Given the description of an element on the screen output the (x, y) to click on. 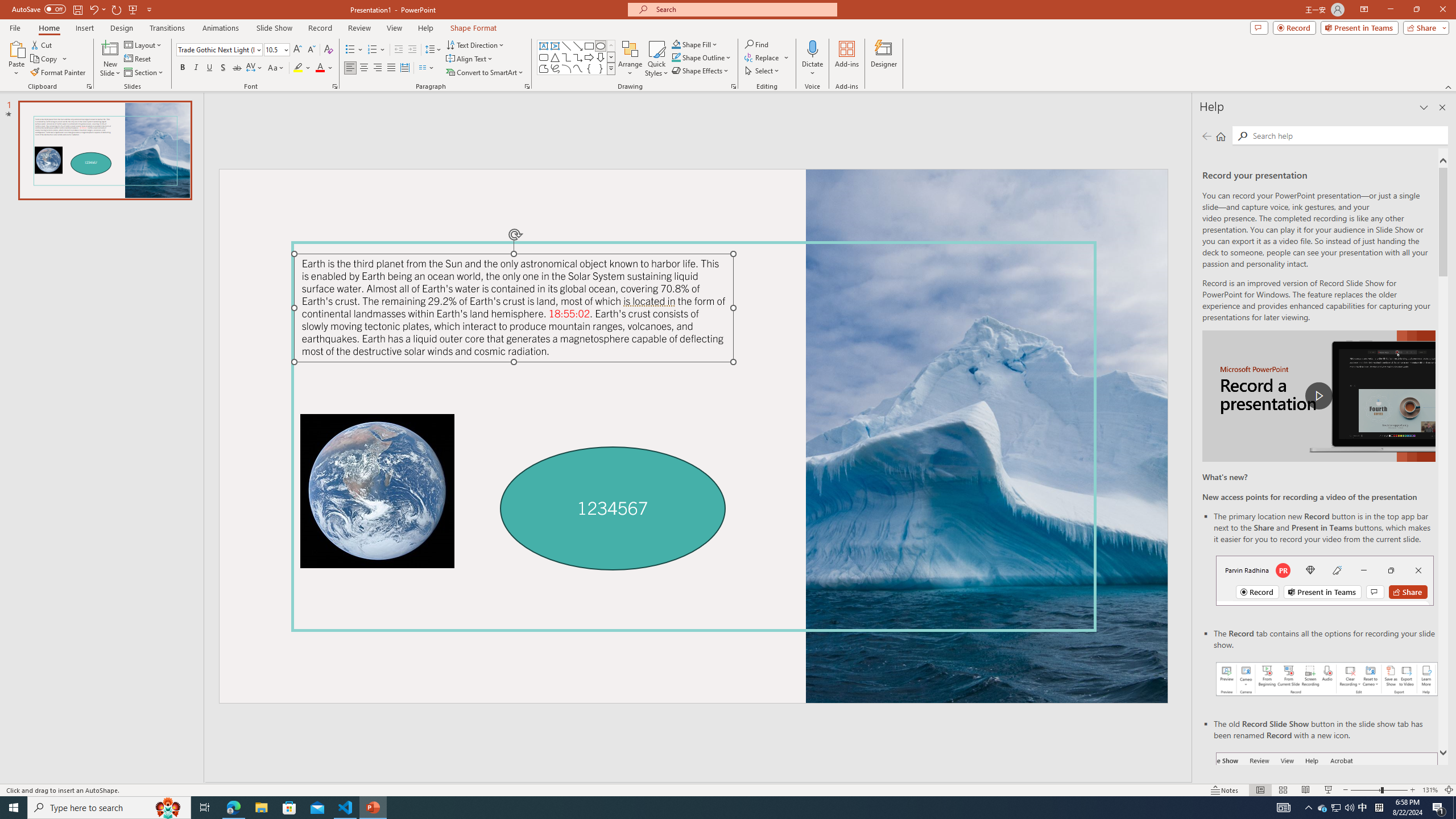
Record (1294, 27)
Search (1241, 136)
Bold (182, 67)
Text Highlight Color (302, 67)
File Tab (15, 27)
Rectangle (589, 45)
New Slide (110, 48)
Decrease Font Size (310, 49)
Replace... (767, 56)
Connector: Elbow (566, 57)
Record button in top bar (1324, 580)
Zoom Out (1365, 790)
Zoom (1379, 790)
Notes  (1225, 790)
